Given the description of an element on the screen output the (x, y) to click on. 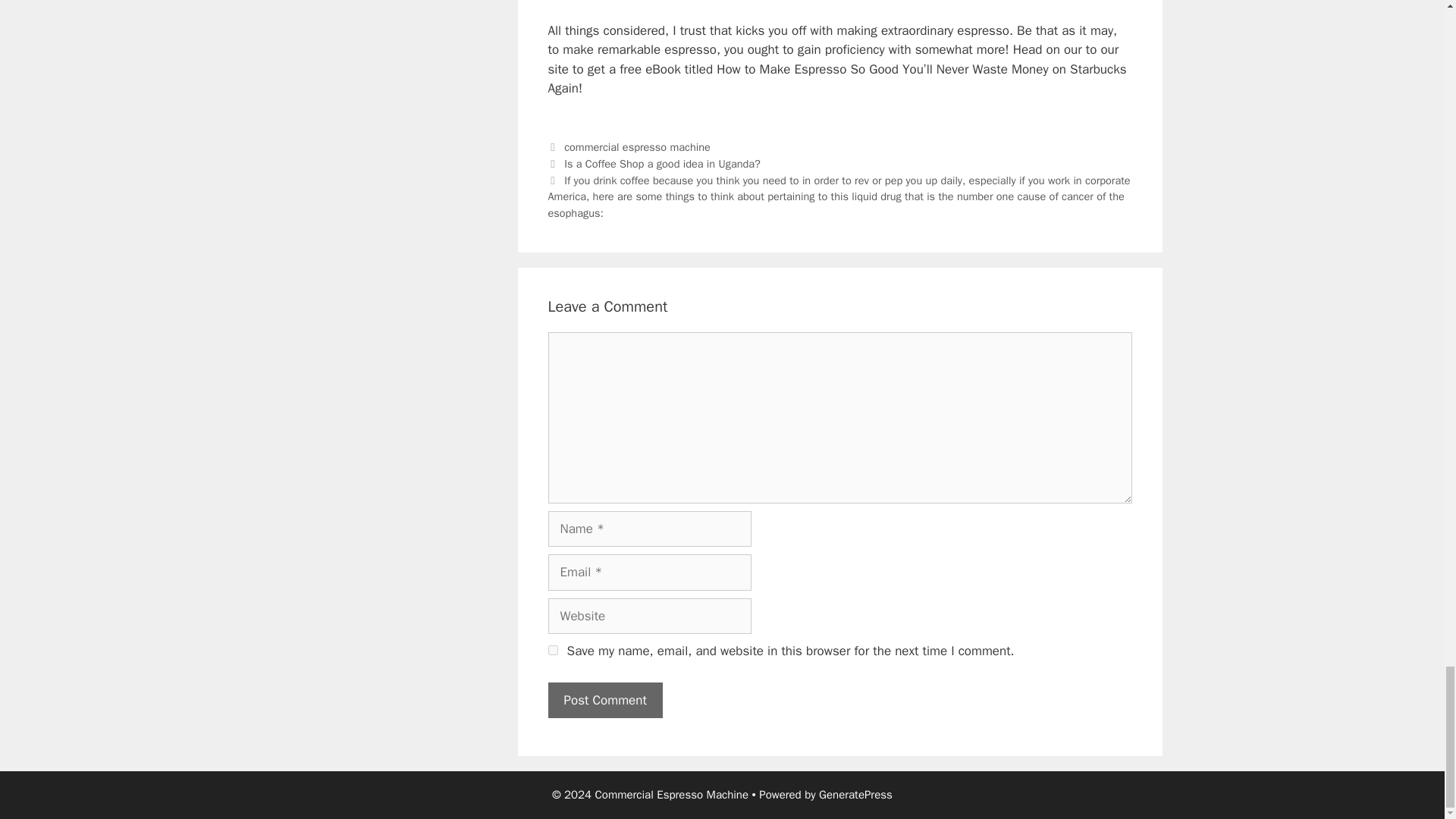
GeneratePress (855, 794)
Post Comment (604, 700)
Next (838, 196)
yes (552, 650)
Is a Coffee Shop a good idea in Uganda? (662, 163)
Previous (653, 163)
Post Comment (604, 700)
commercial espresso machine (637, 146)
